Given the description of an element on the screen output the (x, y) to click on. 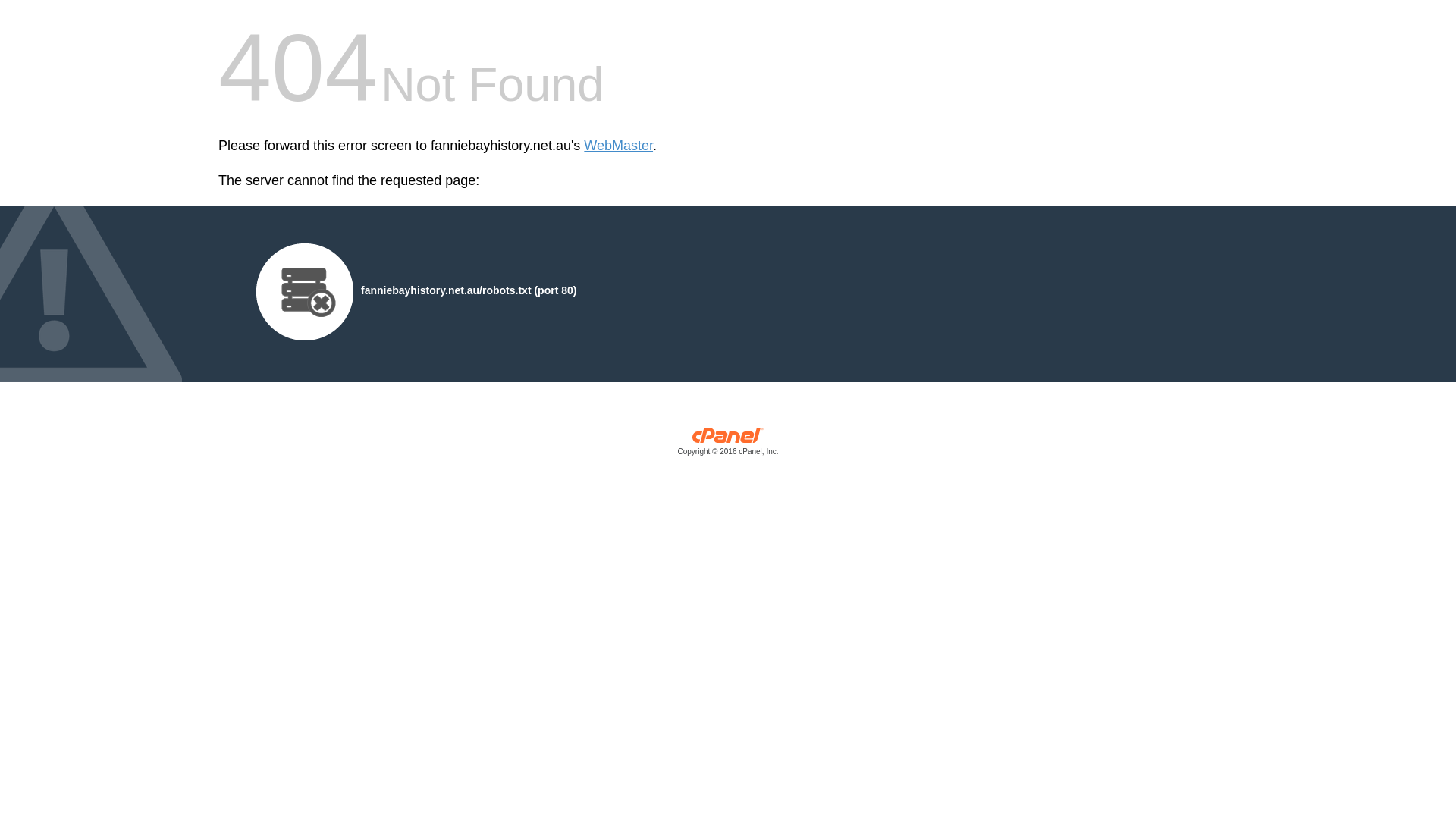
WebMaster Element type: text (617, 145)
